Given the description of an element on the screen output the (x, y) to click on. 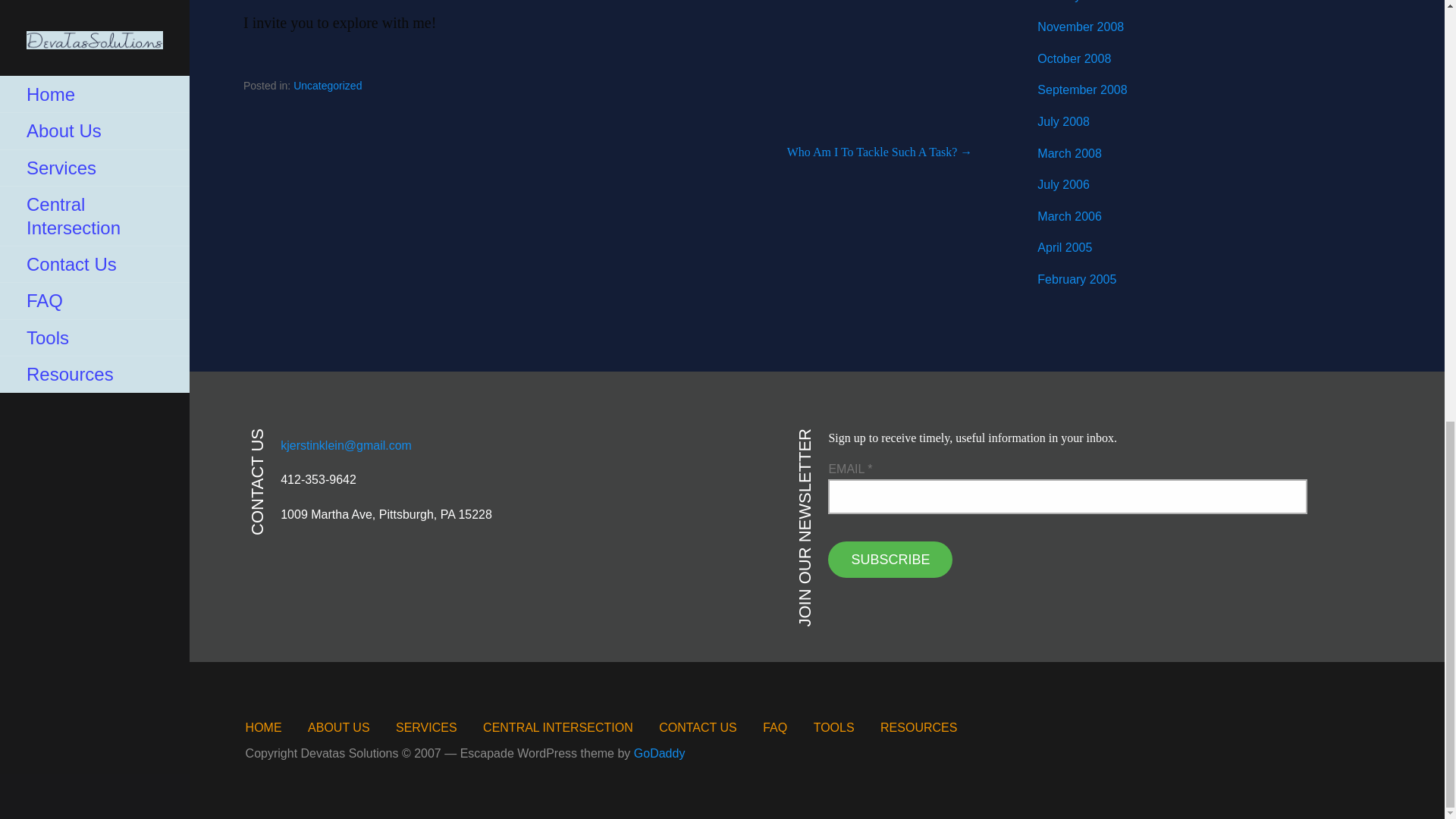
October 2008 (1073, 58)
July 2008 (1062, 121)
September 2008 (1081, 89)
Subscribe (890, 559)
November 2008 (1080, 26)
Subscribe (890, 559)
July 2006 (1062, 184)
February 2005 (1076, 278)
January 2009 (1073, 1)
March 2006 (1069, 215)
